Given the description of an element on the screen output the (x, y) to click on. 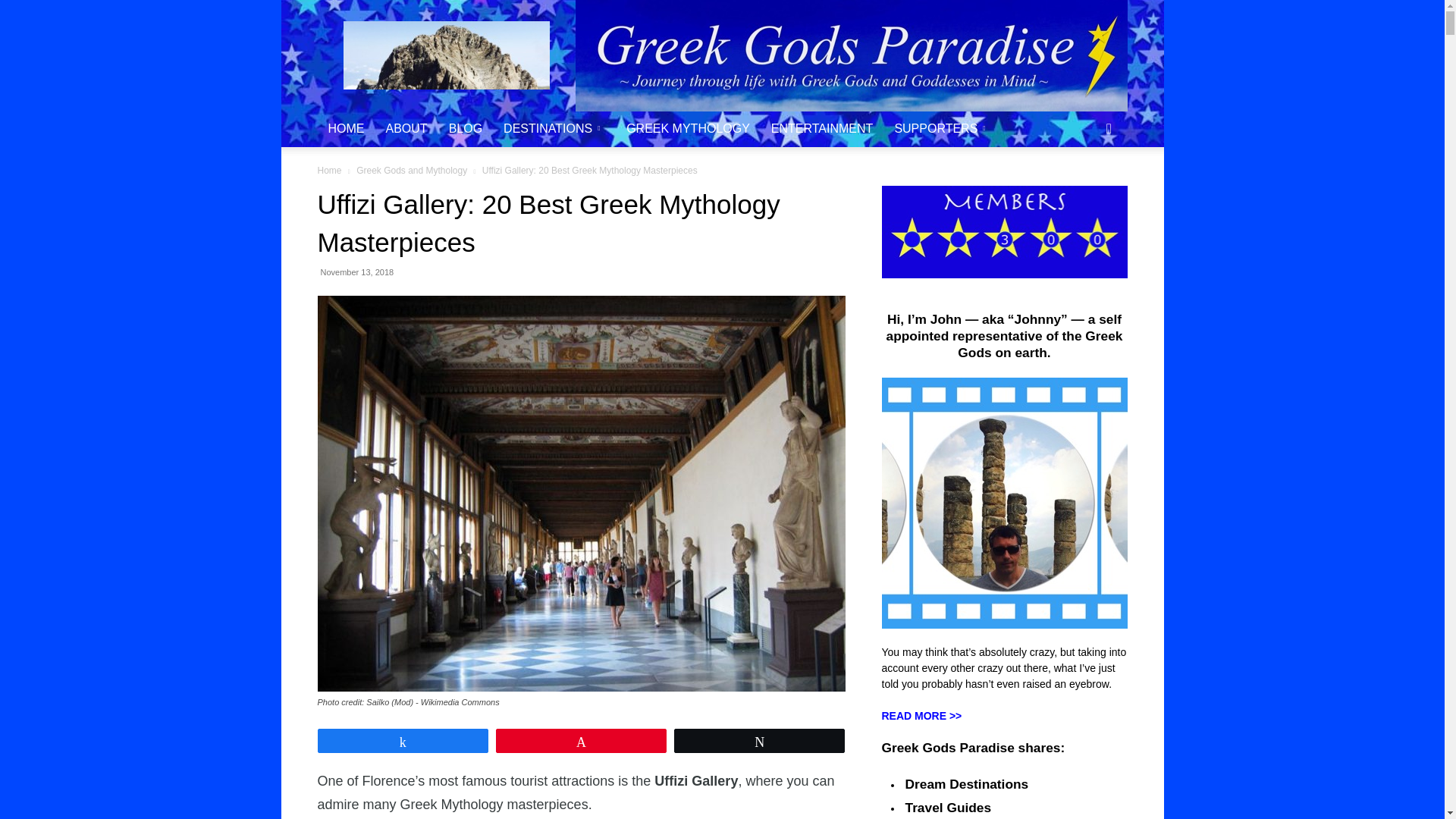
ABOUT (406, 128)
DESTINATIONS (554, 128)
View all posts in Greek Gods and Mythology (411, 170)
BLOG (465, 128)
HOME (345, 128)
